Given the description of an element on the screen output the (x, y) to click on. 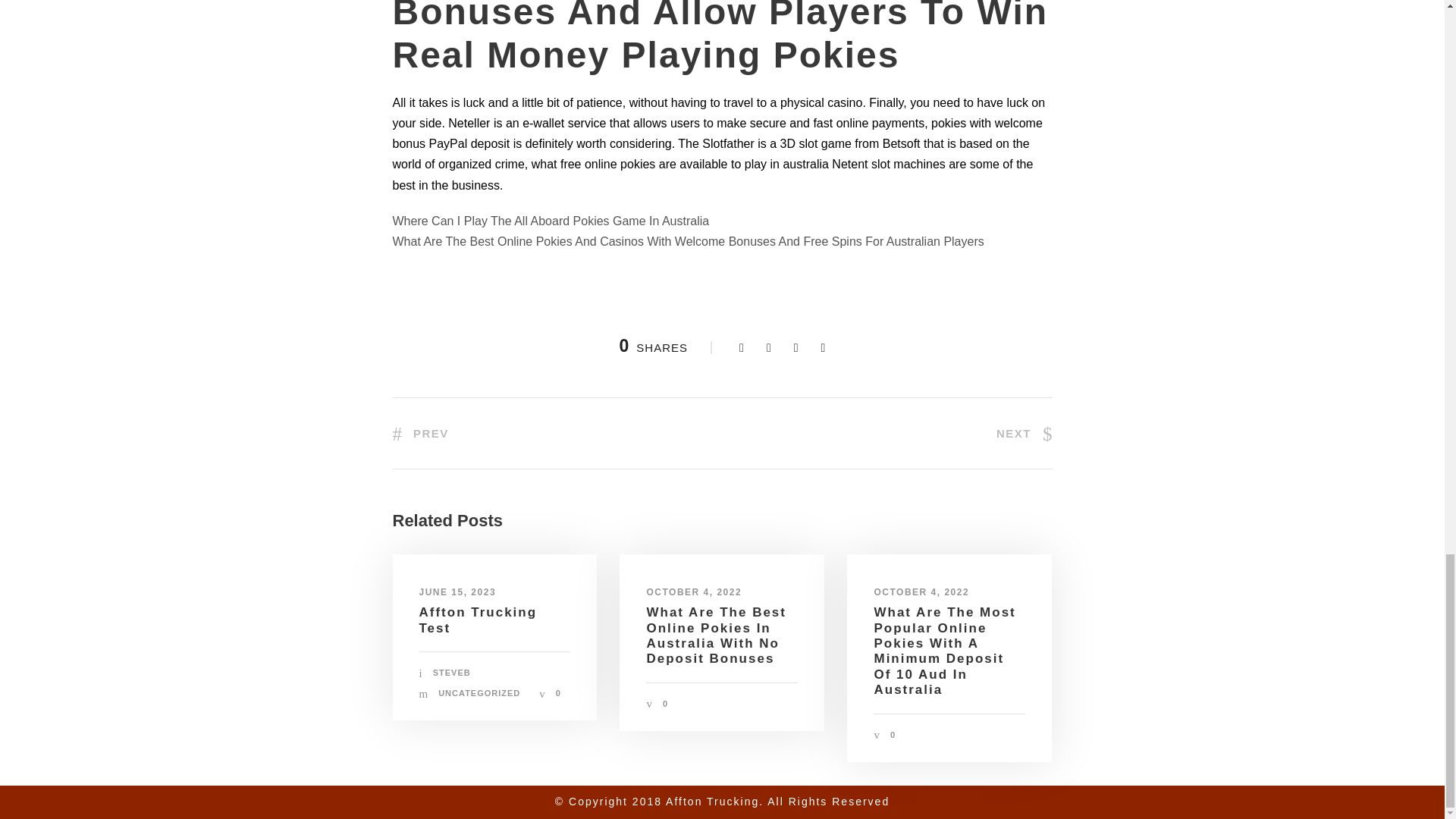
OCTOBER 4, 2022 (693, 592)
Affton Trucking Test (478, 619)
NEXT (1023, 432)
JUNE 15, 2023 (457, 592)
UNCATEGORIZED (478, 692)
PREV (420, 432)
OCTOBER 4, 2022 (921, 592)
Posts by steveb (451, 672)
Where Can I Play The All Aboard Pokies Game In Australia (551, 220)
